Given the description of an element on the screen output the (x, y) to click on. 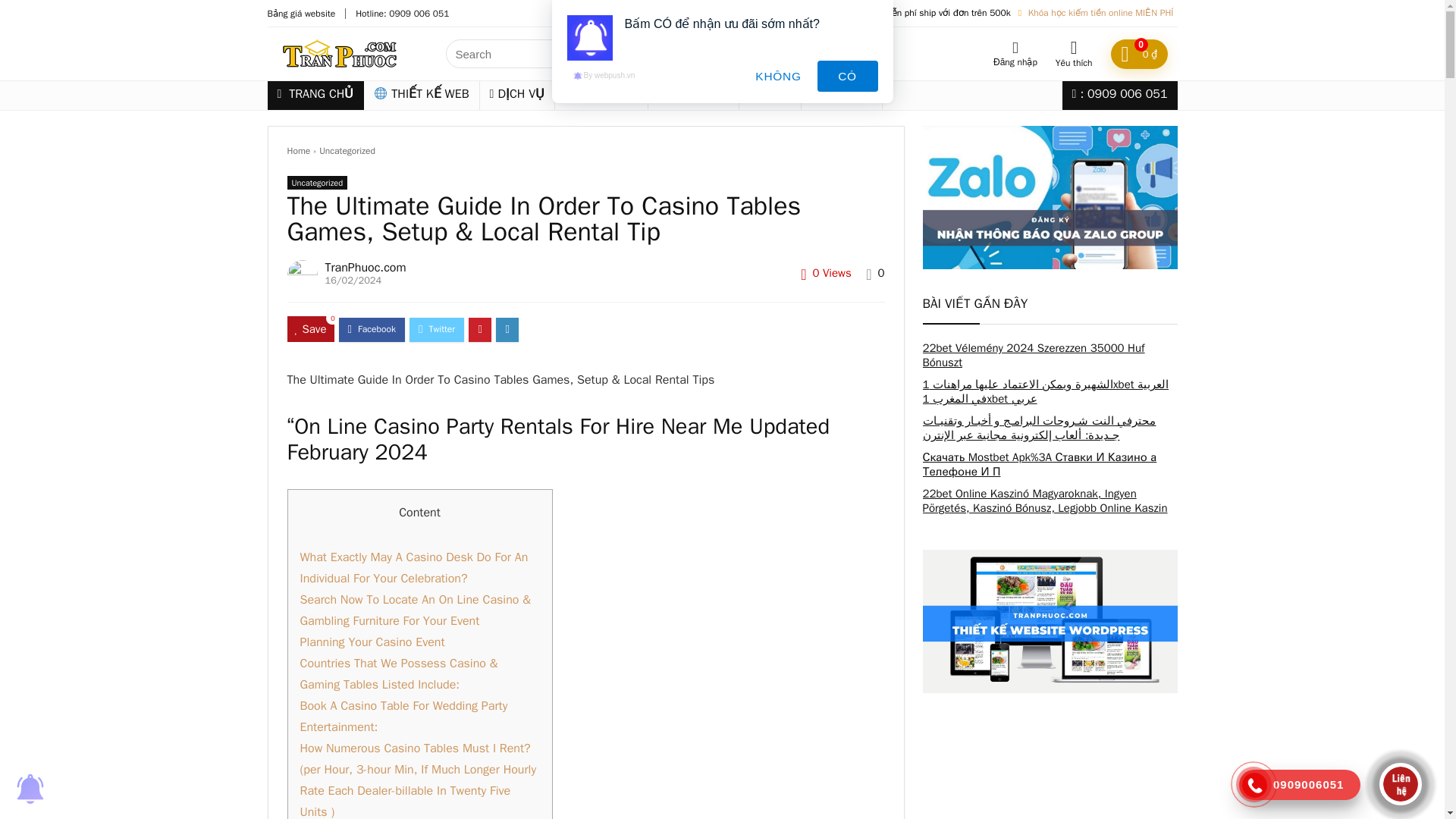
Book A Casino Table For Wedding Party Entertainment: (403, 716)
: 0909 006 051 (1119, 95)
BLOG (769, 95)
Hotline: 0909 006 051 (401, 13)
View all posts in Uncategorized (316, 182)
Uncategorized (316, 182)
0 (881, 273)
Home (298, 150)
TranPhuoc.com (365, 267)
Planning Your Casino Event (372, 642)
Uncategorized (346, 150)
How Numerous Casino Tables Must I Rent? (415, 748)
